Given the description of an element on the screen output the (x, y) to click on. 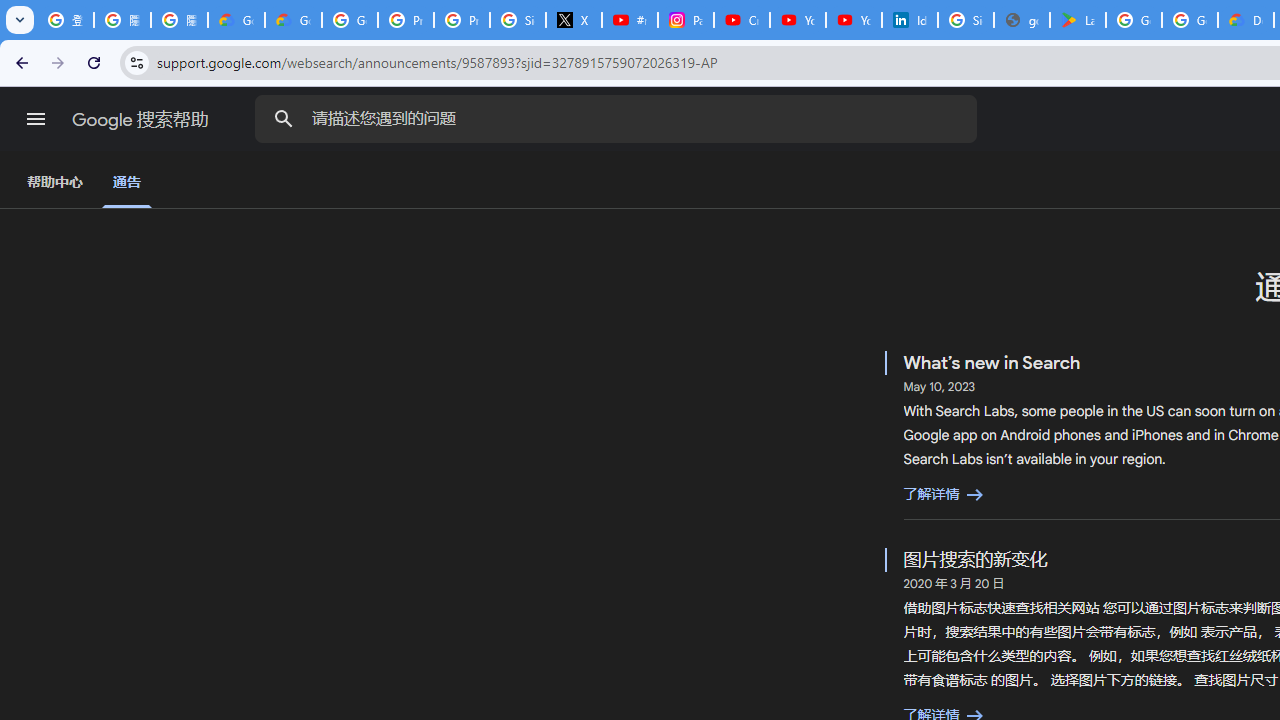
Google Cloud Privacy Notice (235, 20)
Google Cloud Privacy Notice (293, 20)
X (573, 20)
